Given the description of an element on the screen output the (x, y) to click on. 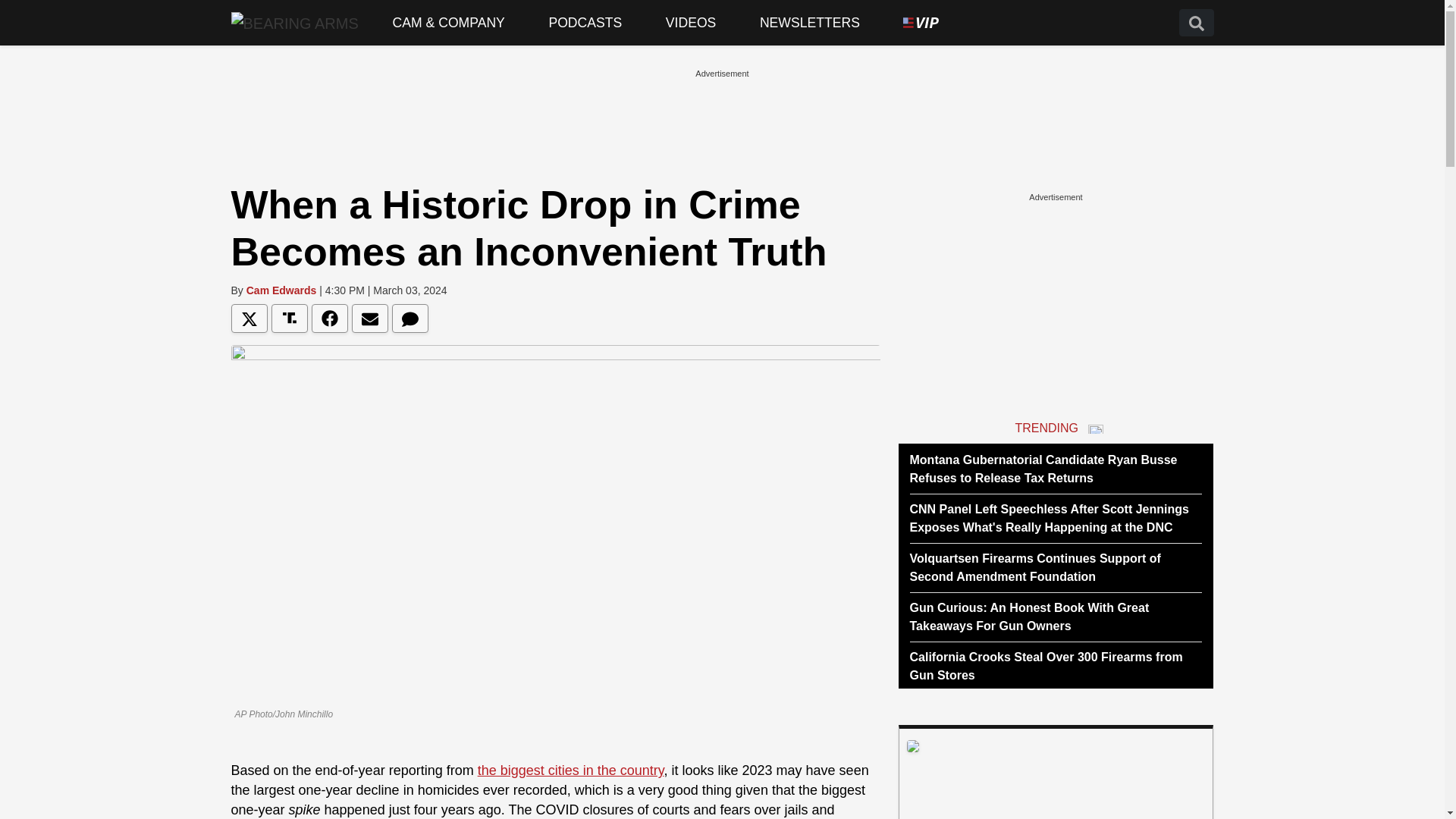
VIP (920, 22)
Bearing Arms (294, 22)
VIDEOS (690, 22)
Site Search (1194, 22)
Videos (690, 22)
PODCASTS (585, 22)
Podcasts (585, 22)
Newsletters (810, 22)
NEWSLETTERS (810, 22)
